Given the description of an element on the screen output the (x, y) to click on. 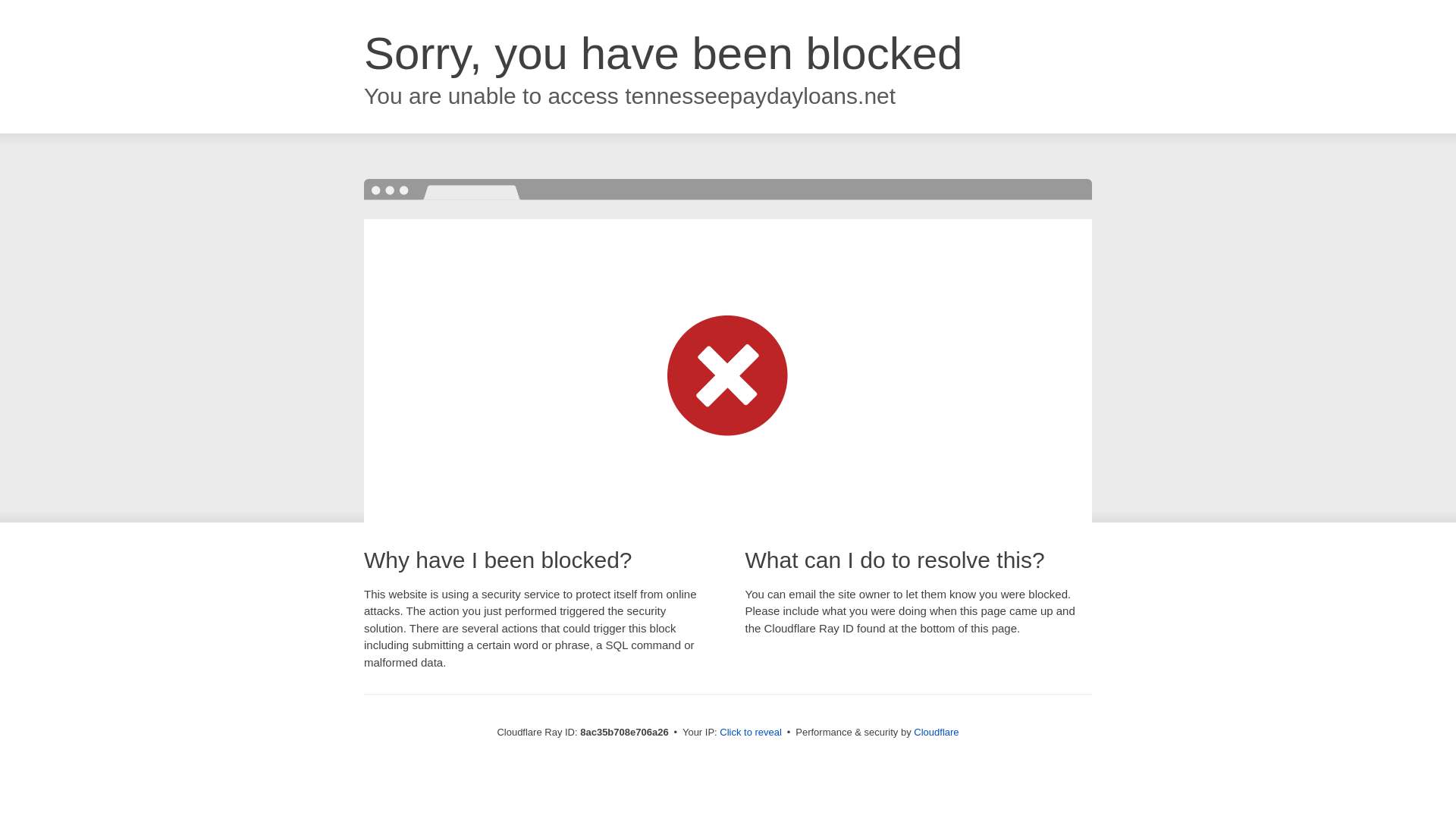
Click to reveal (750, 732)
Cloudflare (936, 731)
